Given the description of an element on the screen output the (x, y) to click on. 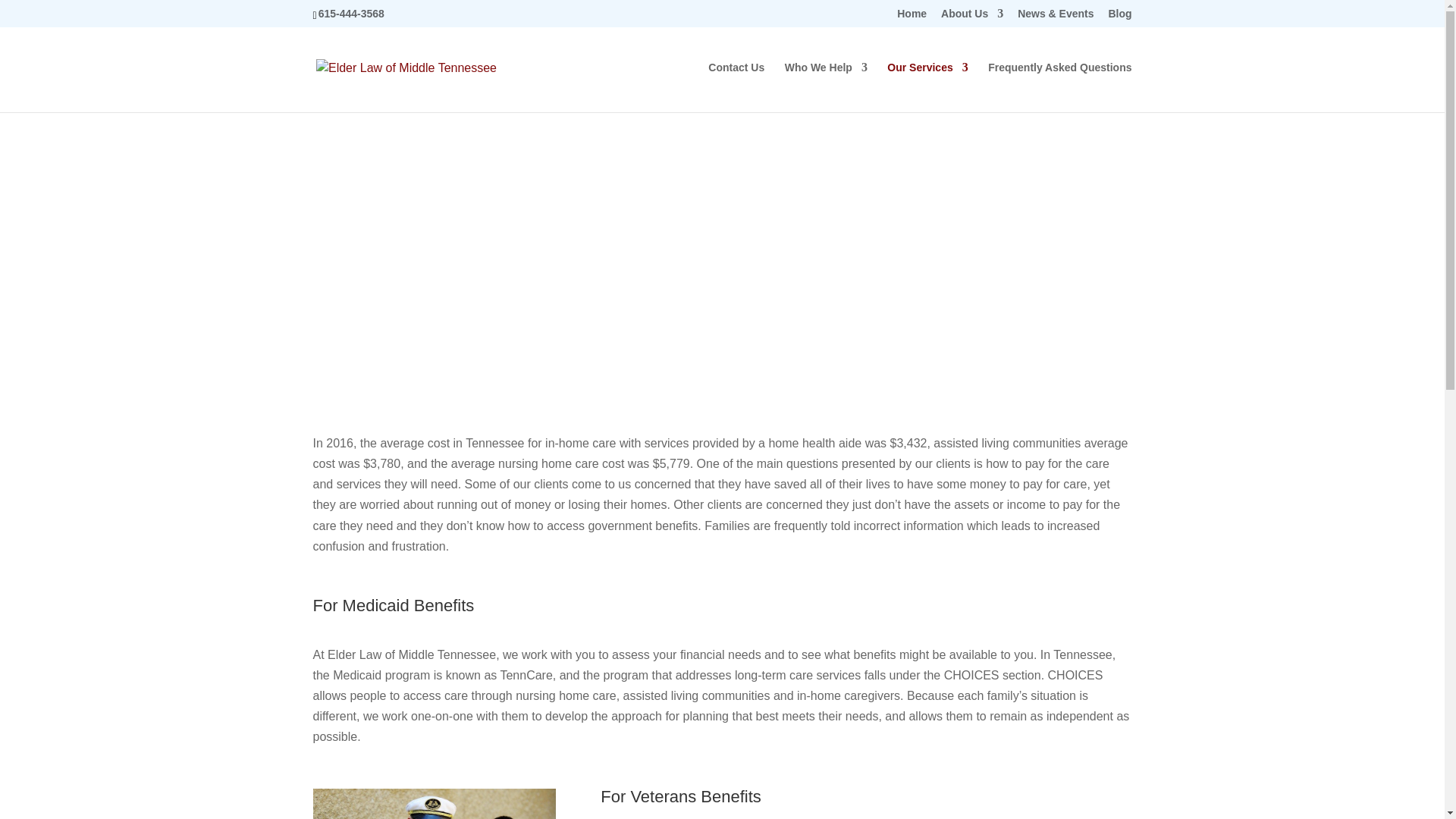
About Us (971, 16)
Blog (1119, 16)
Who We Help (825, 87)
Contact Us (735, 87)
Our Services (927, 87)
Home (911, 16)
Frequently Asked Questions (1059, 87)
